Given the description of an element on the screen output the (x, y) to click on. 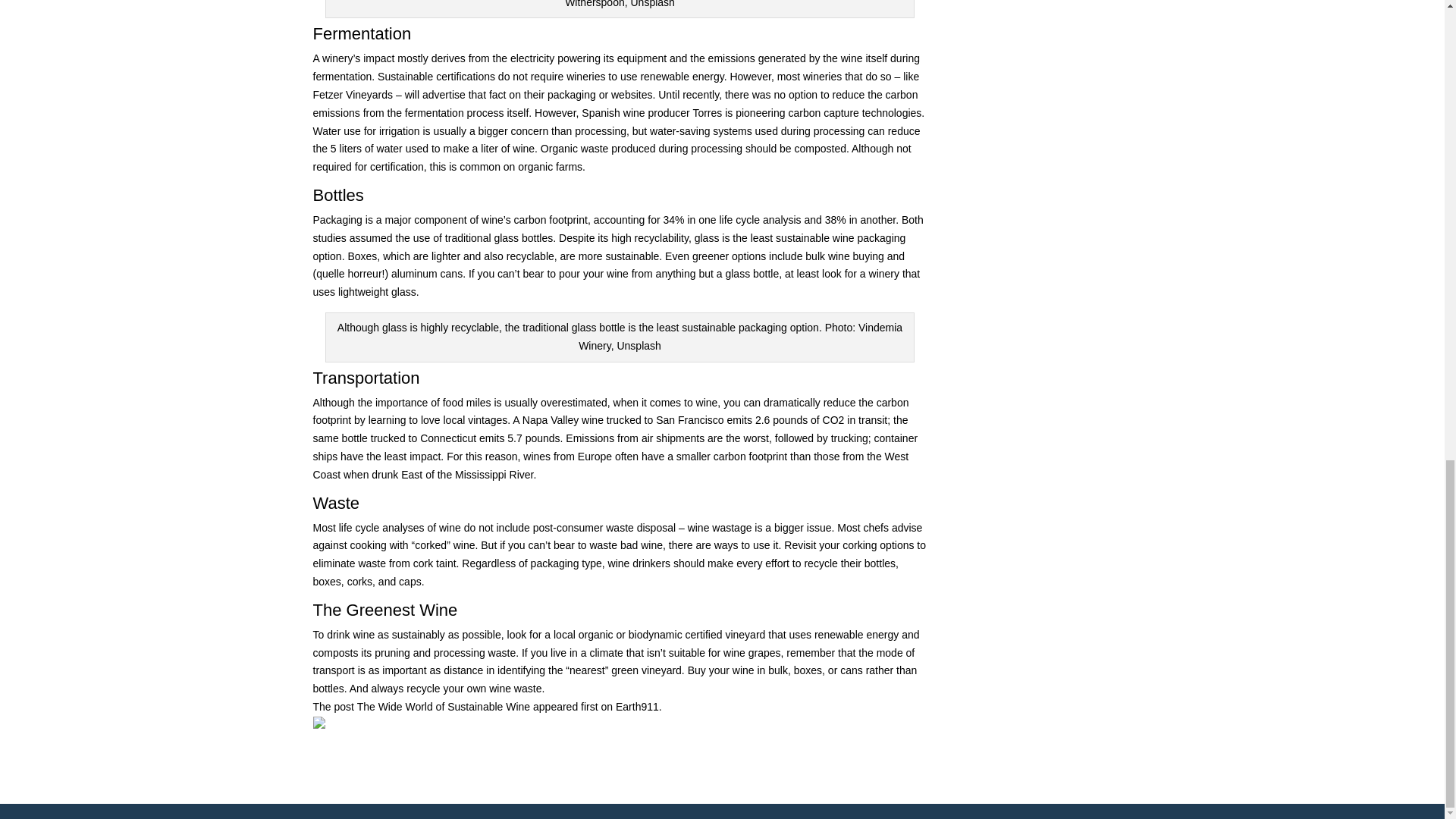
Tina Witherspoon (734, 4)
Torres (707, 112)
sustainable wine packaging option (609, 246)
derives from (459, 58)
Fetzer Vineyards (353, 94)
lightweight glass (376, 291)
5 liters (345, 148)
